Given the description of an element on the screen output the (x, y) to click on. 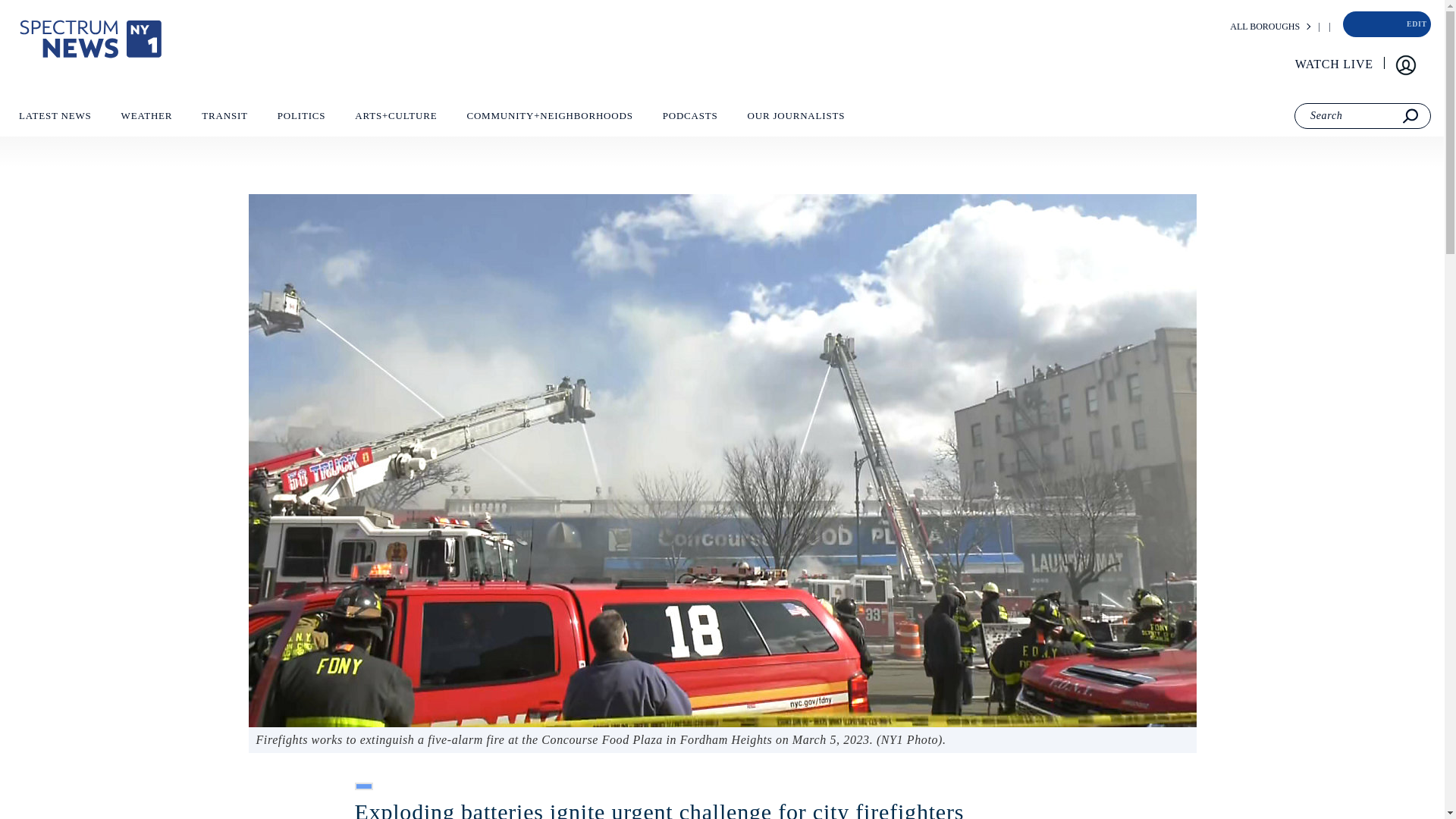
WEATHER (146, 119)
WATCH LIVE (1334, 64)
LATEST NEWS (55, 119)
ALL BOROUGHS (1265, 26)
